Given the description of an element on the screen output the (x, y) to click on. 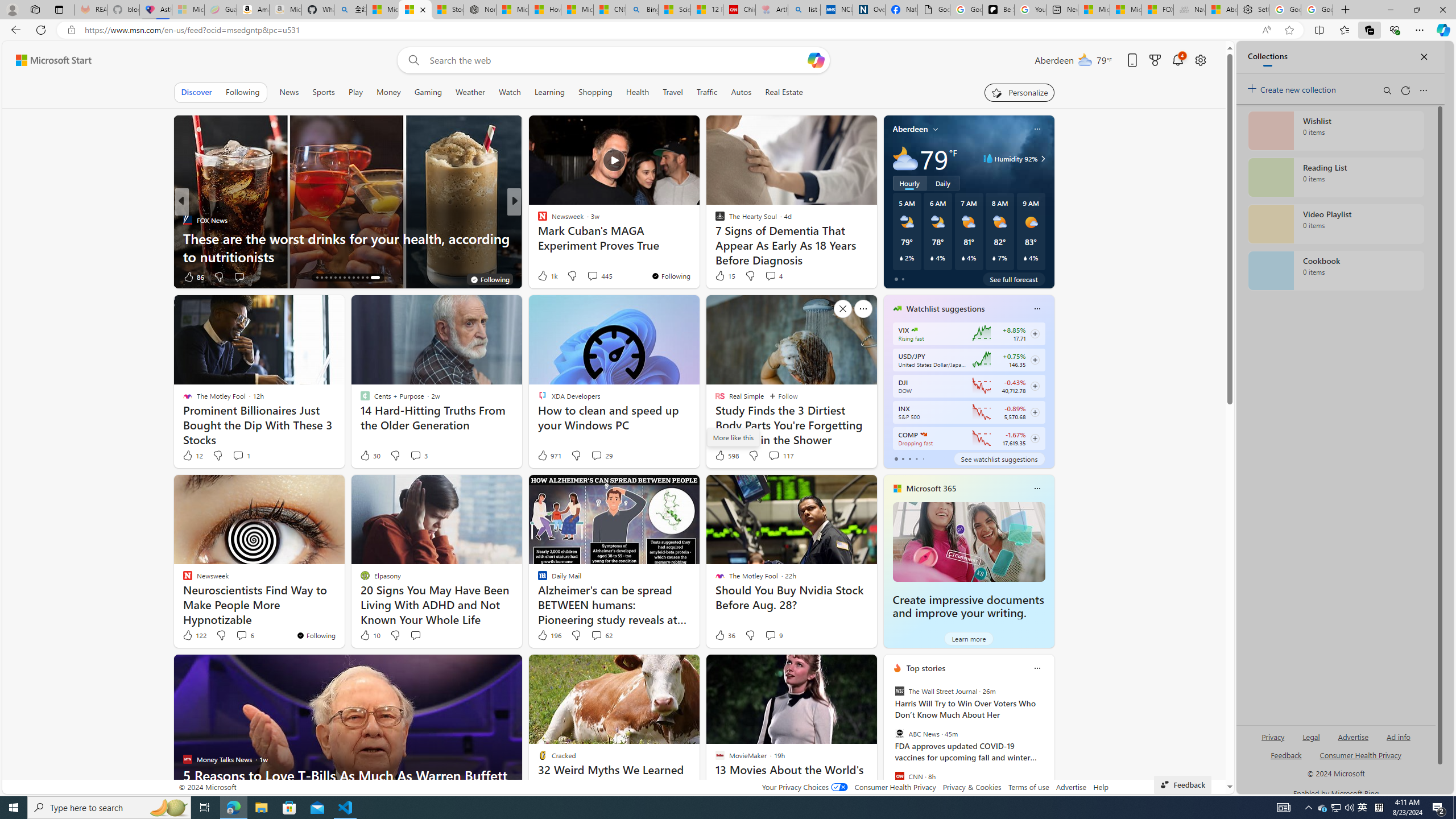
View comments 3 Comment (418, 455)
1k Like (546, 275)
12 Like (192, 455)
How I Got Rid of Microsoft Edge's Unnecessary Features (545, 9)
AutomationID: tab-26 (375, 277)
